Given the description of an element on the screen output the (x, y) to click on. 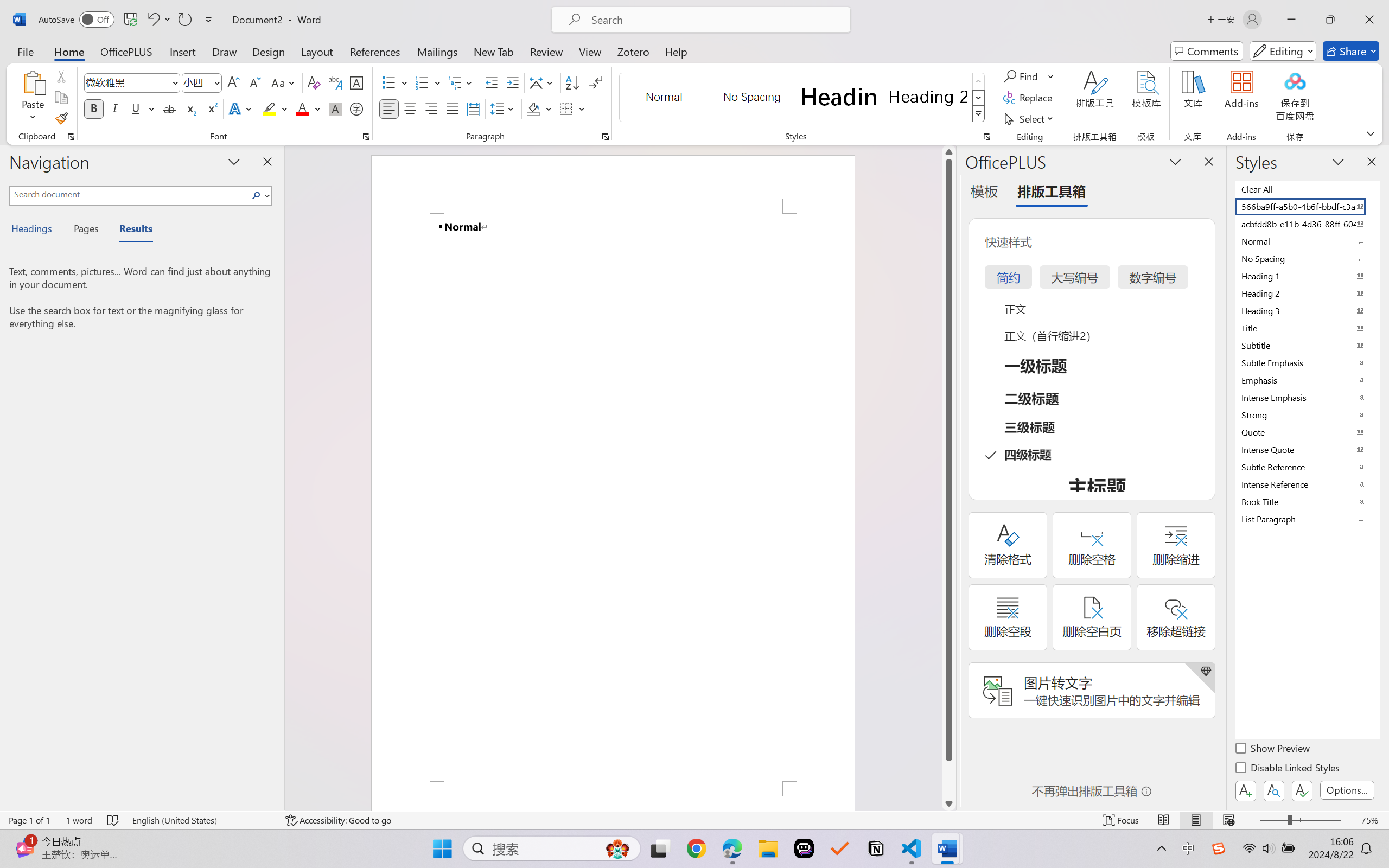
Justify (452, 108)
Shading RGB(0, 0, 0) (533, 108)
Decrease Indent (491, 82)
acbfdd8b-e11b-4d36-88ff-6049b138f862 (1306, 223)
Help (675, 51)
Save (130, 19)
View (589, 51)
Enclose Characters... (356, 108)
566ba9ff-a5b0-4b6f-bbdf-c3ab41993fc2 (1306, 206)
Shading (539, 108)
Search (256, 195)
